Given the description of an element on the screen output the (x, y) to click on. 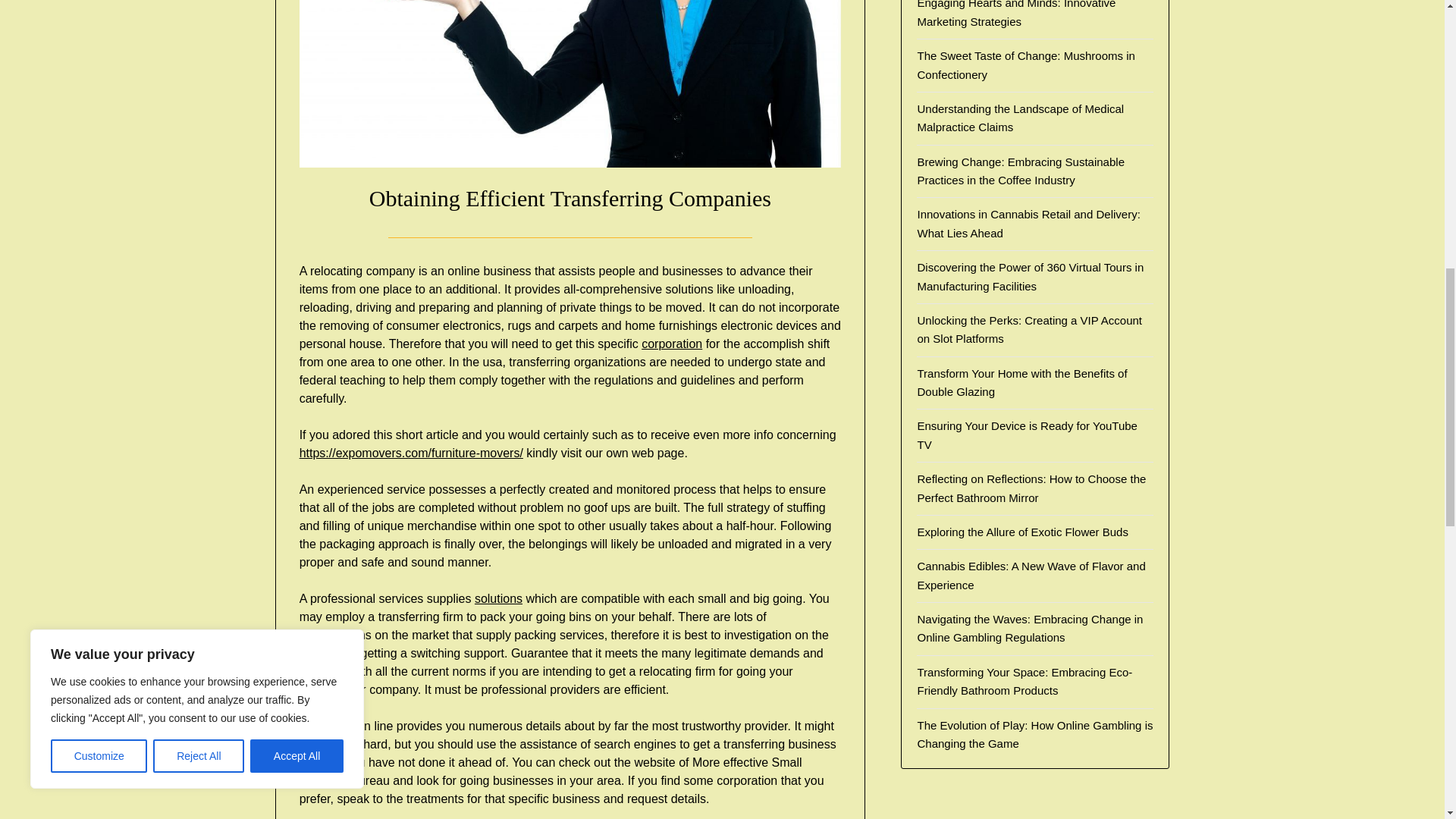
Engaging Hearts and Minds: Innovative Marketing Strategies (1016, 13)
solutions (498, 598)
The Sweet Taste of Change: Mushrooms in Confectionery (1025, 64)
corporation (671, 343)
Transform Your Home with the Benefits of Double Glazing (1021, 382)
Understanding the Landscape of Medical Malpractice Claims (1020, 117)
Innovations in Cannabis Retail and Delivery: What Lies Ahead (1028, 223)
